Given the description of an element on the screen output the (x, y) to click on. 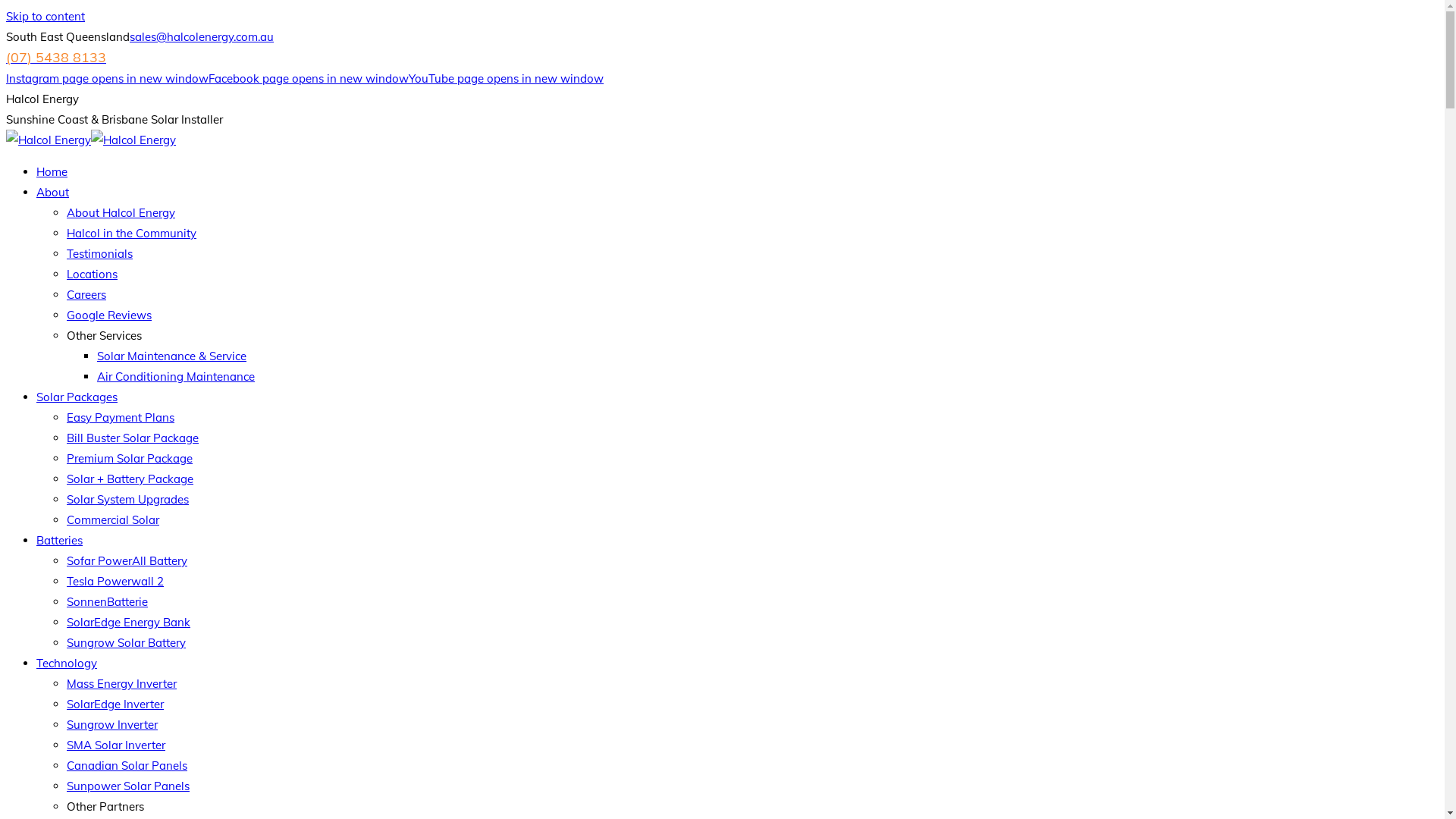
SonnenBatterie Element type: text (106, 601)
About Halcol Energy Element type: text (120, 212)
Air Conditioning Maintenance Element type: text (175, 376)
Solar System Upgrades Element type: text (127, 499)
Sungrow Inverter Element type: text (111, 724)
Other Partners Element type: text (105, 806)
Easy Payment Plans Element type: text (120, 417)
Facebook page opens in new window Element type: text (308, 78)
About Element type: text (52, 192)
Solar Packages Element type: text (76, 396)
Sofar PowerAll Battery Element type: text (126, 560)
YouTube page opens in new window Element type: text (505, 78)
Commercial Solar Element type: text (112, 519)
Home Element type: text (51, 171)
Solar + Battery Package Element type: text (129, 478)
Bill Buster Solar Package Element type: text (132, 437)
Locations Element type: text (91, 273)
Technology Element type: text (66, 662)
Skip to content Element type: text (45, 16)
Google Reviews Element type: text (108, 314)
(07) 5438 8133 Element type: text (56, 57)
Premium Solar Package Element type: text (129, 458)
Canadian Solar Panels Element type: text (126, 765)
SMA Solar Inverter Element type: text (115, 744)
Mass Energy Inverter Element type: text (121, 683)
Solar Maintenance & Service Element type: text (171, 355)
Sungrow Solar Battery Element type: text (125, 642)
sales@halcolenergy.com.au Element type: text (201, 36)
Testimonials Element type: text (99, 253)
Sunpower Solar Panels Element type: text (127, 785)
Halcol in the Community Element type: text (131, 232)
Instagram page opens in new window Element type: text (107, 78)
SolarEdge Energy Bank Element type: text (128, 622)
Other Services Element type: text (103, 335)
SolarEdge Inverter Element type: text (114, 703)
Careers Element type: text (86, 294)
Batteries Element type: text (59, 540)
Tesla Powerwall 2 Element type: text (114, 581)
